Given the description of an element on the screen output the (x, y) to click on. 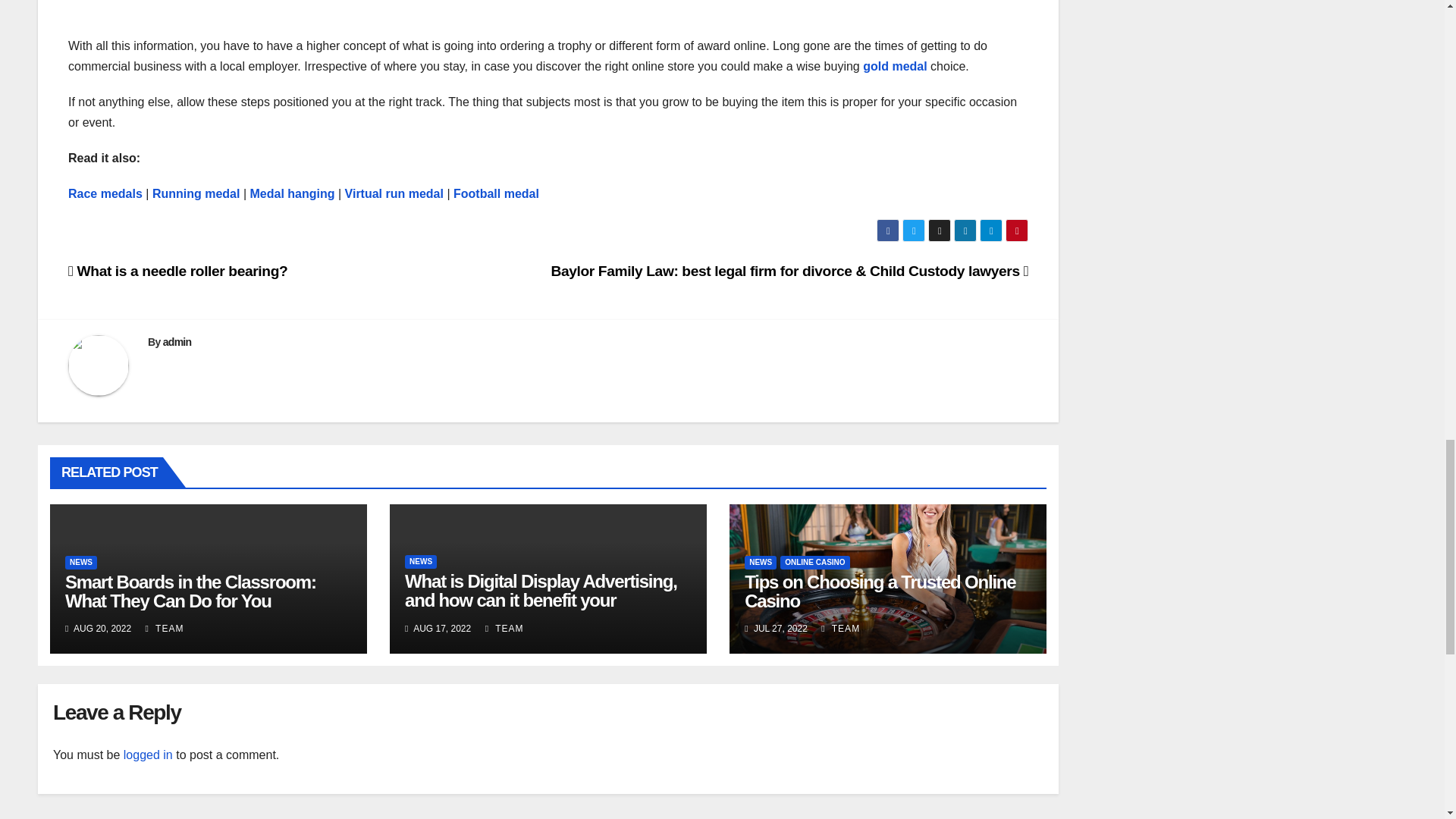
NEWS (760, 562)
Running medal (197, 193)
TEAM (164, 628)
admin (177, 341)
Smart Boards in the Classroom: What They Can Do for You (190, 590)
WTD METAL CRAFTS CO , LIMITED (547, 11)
NEWS (420, 561)
Race medals (105, 193)
ONLINE CASINO (814, 562)
NEWS (81, 562)
Medal hanging (292, 193)
What is a needle roller bearing? (177, 270)
Virtual run medal (394, 193)
TEAM (504, 628)
